Given the description of an element on the screen output the (x, y) to click on. 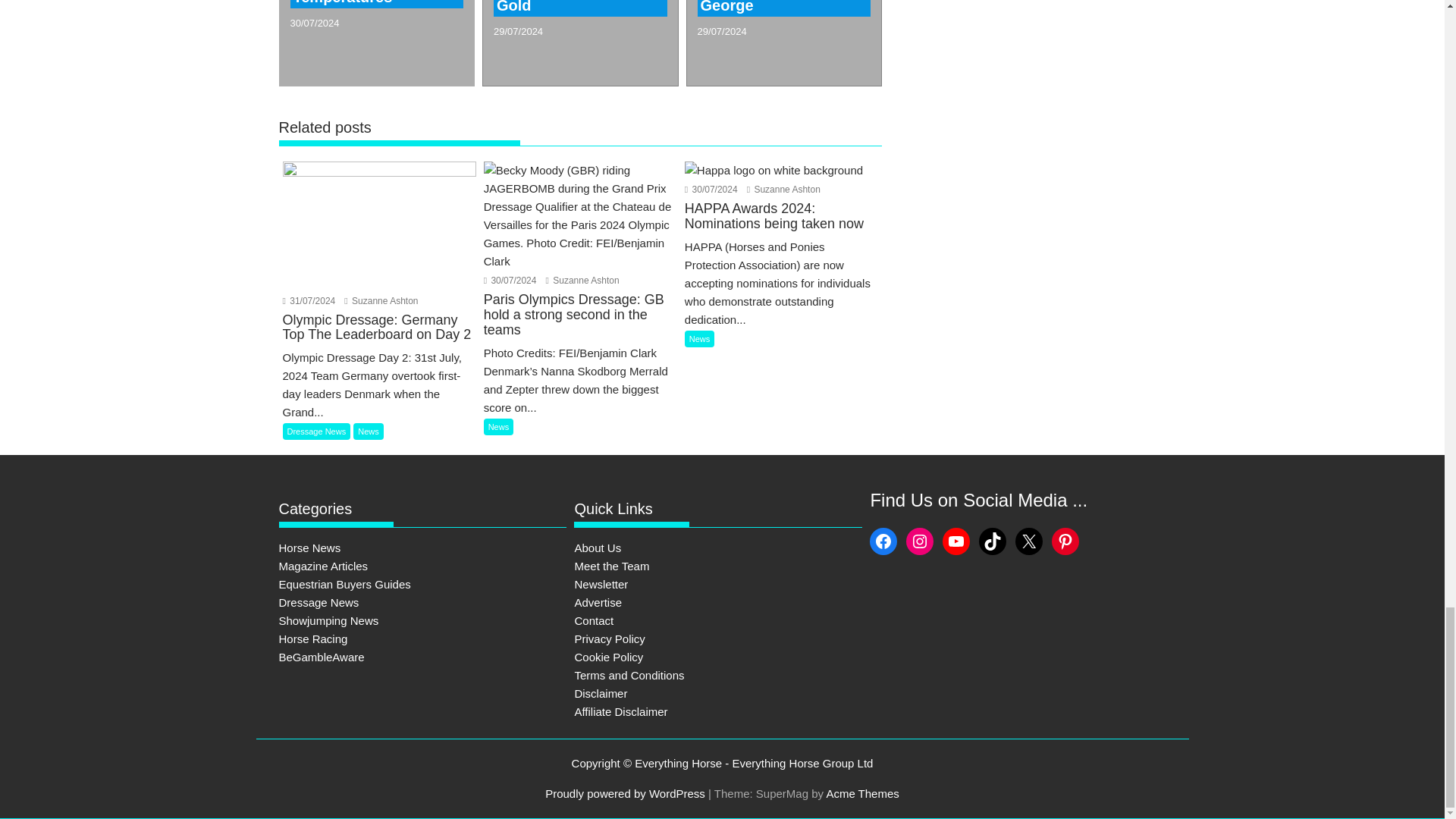
Suzanne Ashton (380, 300)
Suzanne Ashton (583, 280)
